Given the description of an element on the screen output the (x, y) to click on. 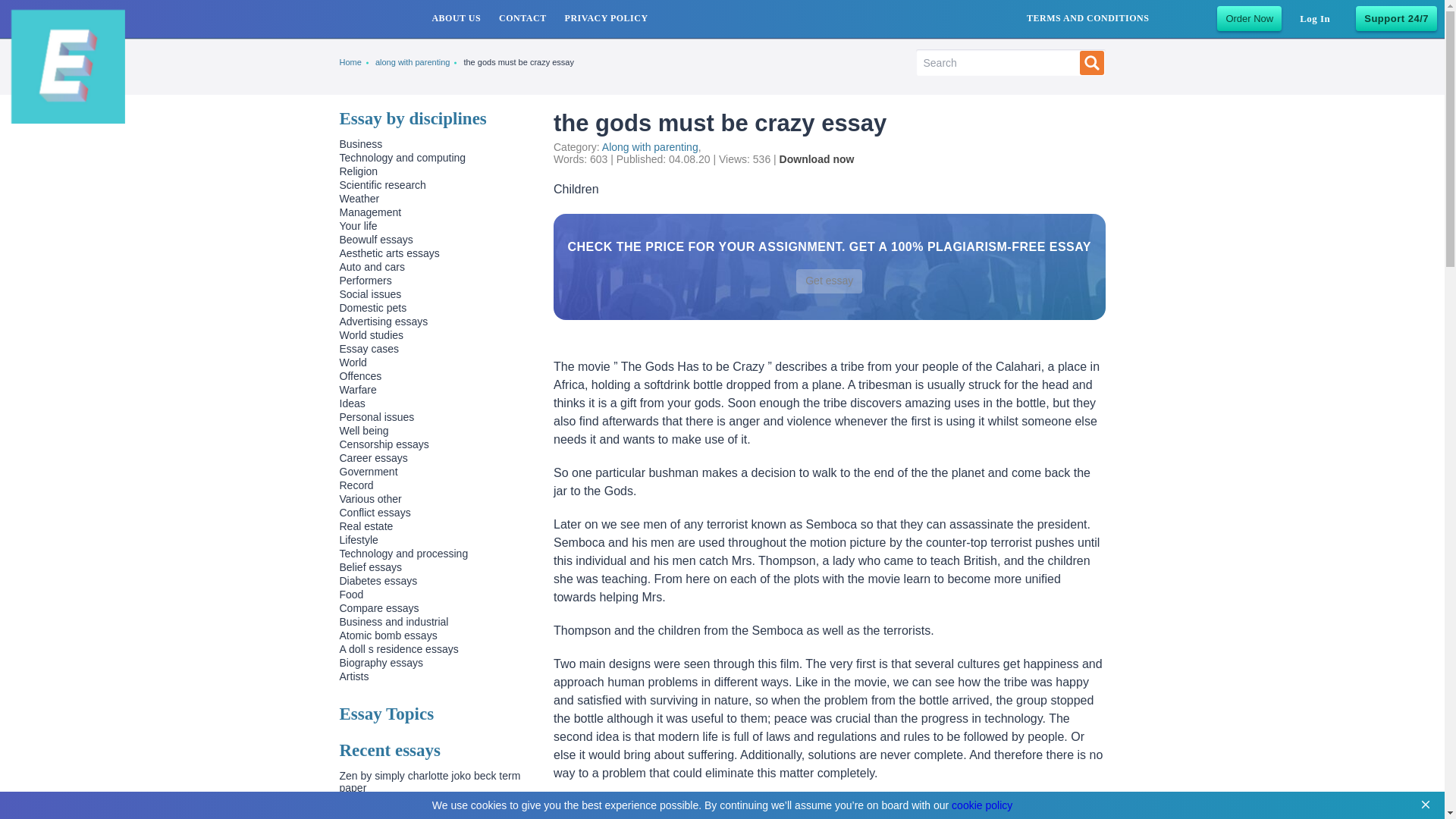
World (352, 362)
Your life (358, 225)
Censorship essays (384, 444)
Scientific research (382, 184)
Auto and cars (371, 266)
World studies (371, 335)
Weather (359, 198)
Search (1091, 61)
Personal issues (376, 417)
TERMS AND CONDITIONS (1087, 18)
Management (370, 212)
Government (368, 471)
Log In (1315, 18)
Advertising essays (383, 321)
CONTACT (523, 18)
